Given the description of an element on the screen output the (x, y) to click on. 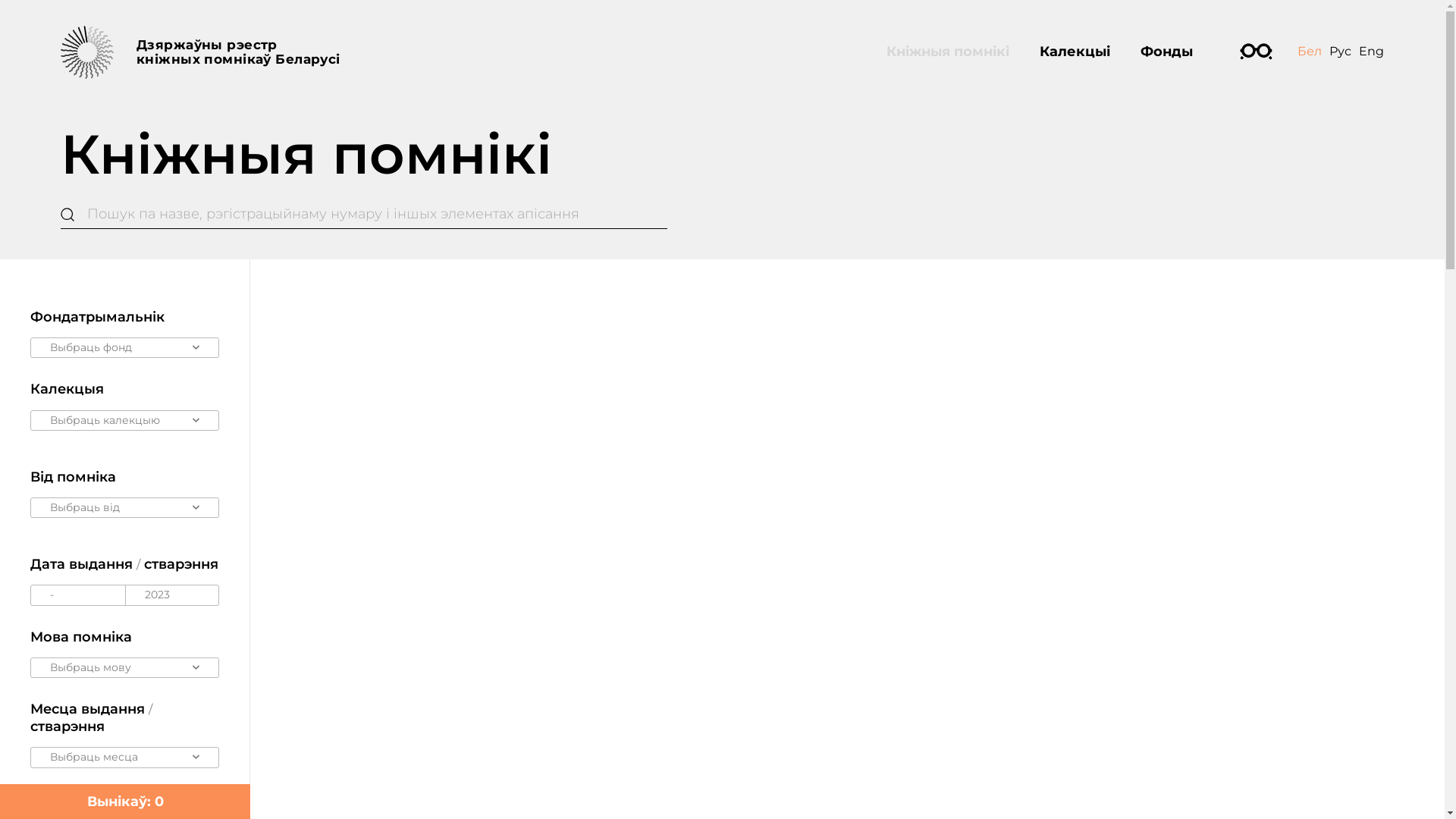
Eng Element type: text (1370, 50)
